Given the description of an element on the screen output the (x, y) to click on. 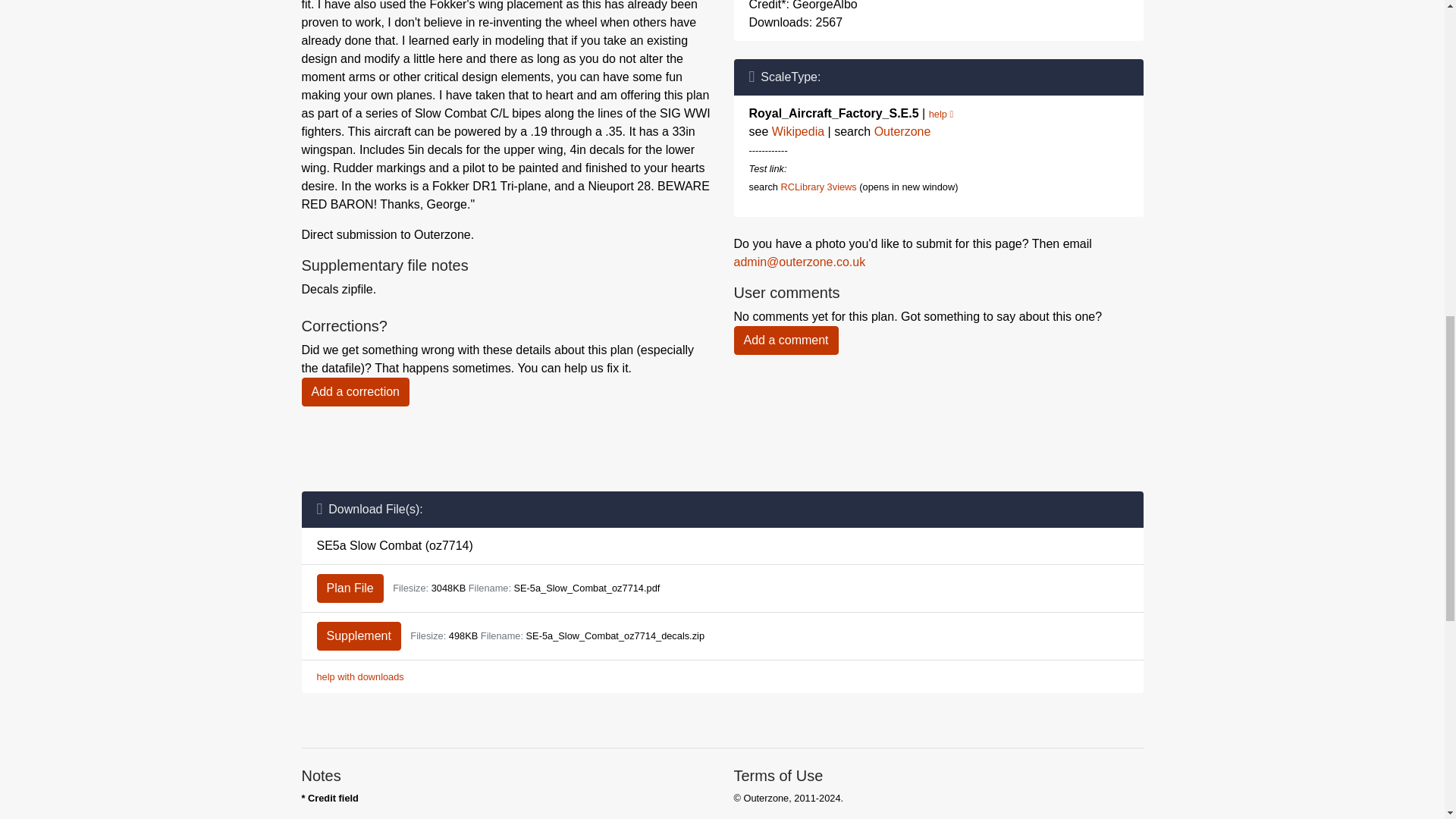
RCLibrary 3views (818, 186)
Add a correction (355, 391)
Wikipedia (797, 131)
help (940, 113)
Outerzone (903, 131)
